Given the description of an element on the screen output the (x, y) to click on. 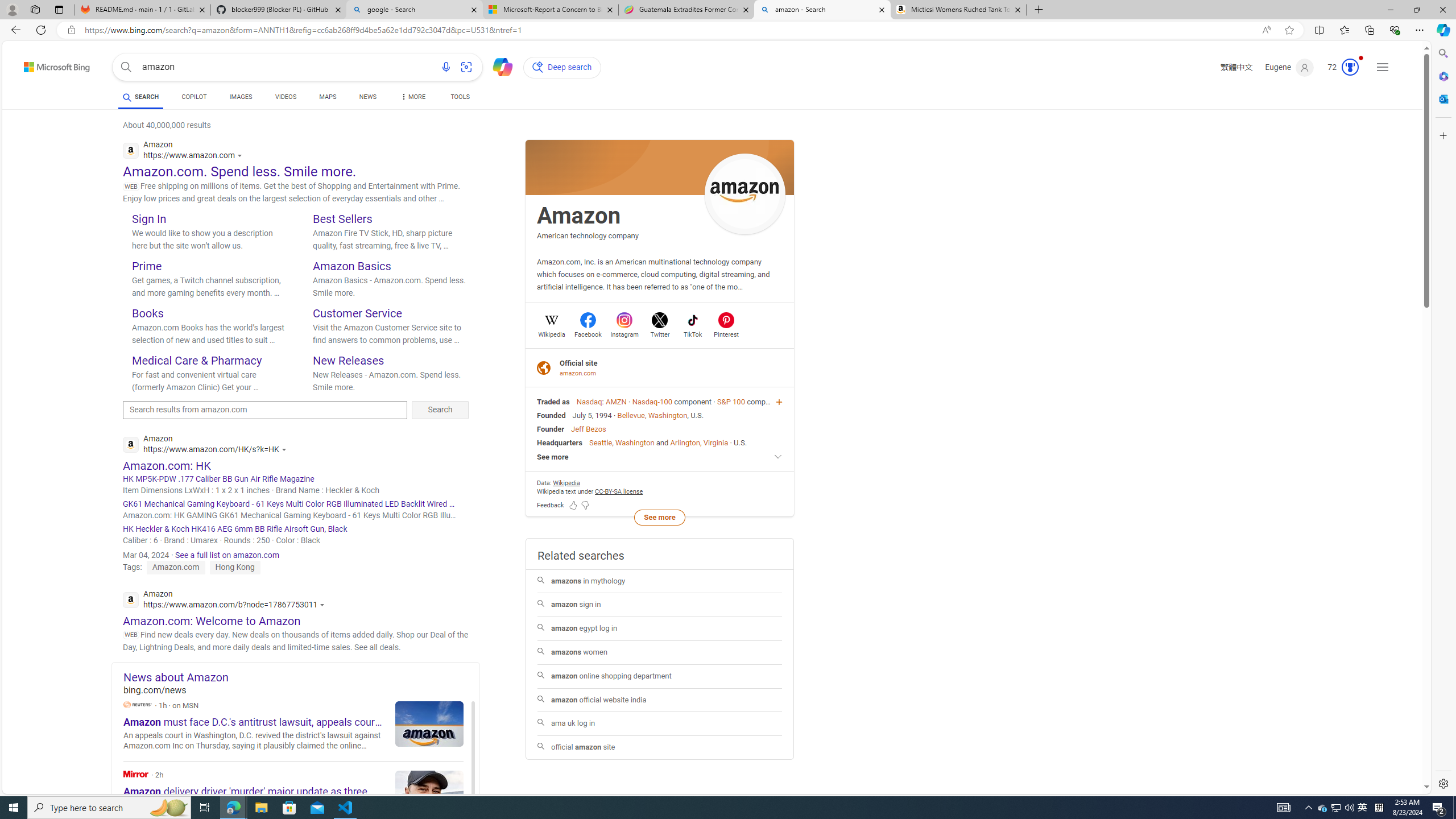
Nasdaq-100 (651, 401)
official amazon site (659, 747)
Amazon Basics (352, 265)
SEARCH (140, 96)
Medical Care & Pharmacy (197, 359)
Prime (146, 265)
TOOLS (460, 98)
Search more (1400, 753)
AutomationID: rh_meter (1350, 66)
Wikipedia (551, 333)
